Given the description of an element on the screen output the (x, y) to click on. 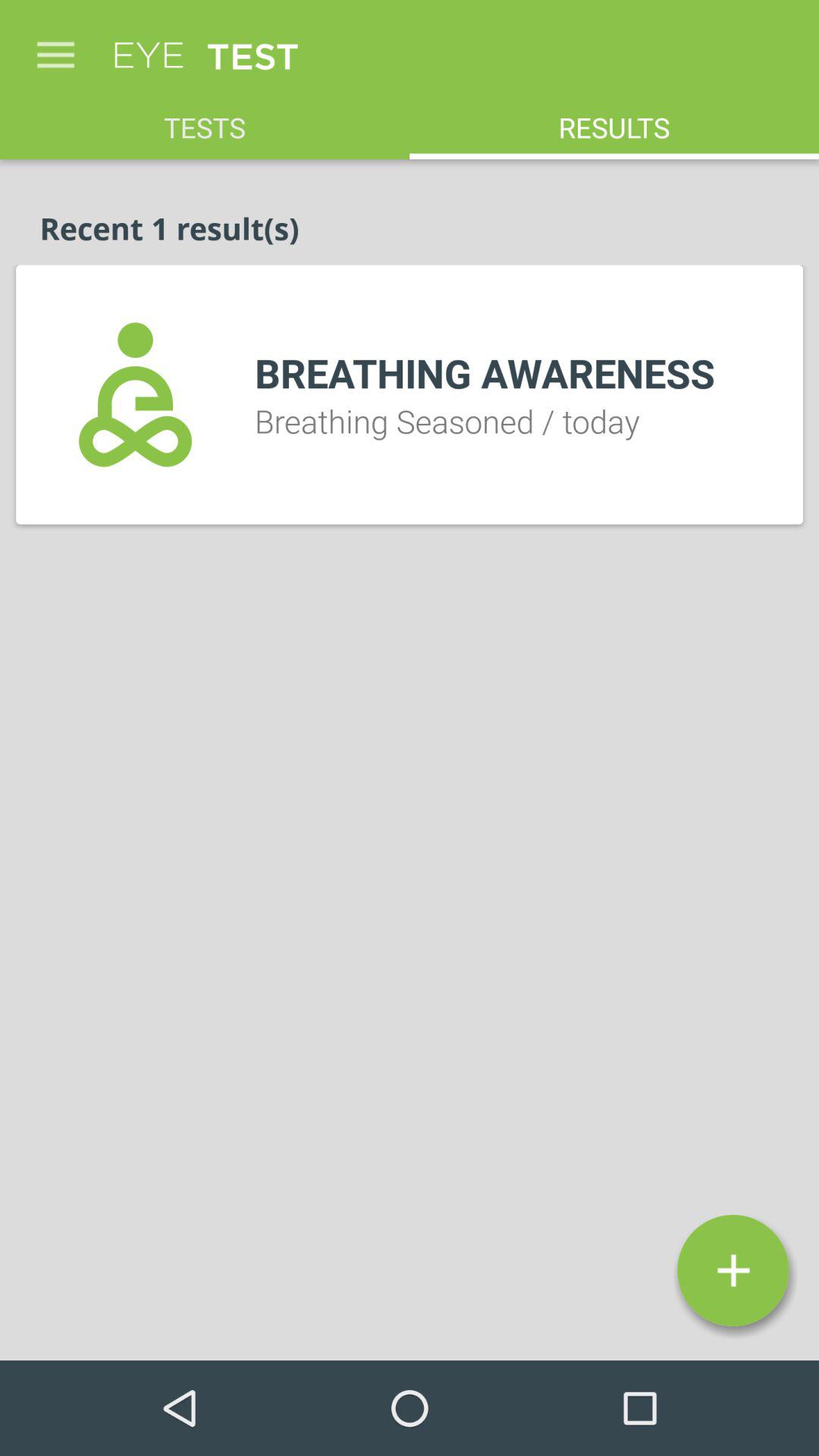
launch icon above tests item (55, 47)
